Given the description of an element on the screen output the (x, y) to click on. 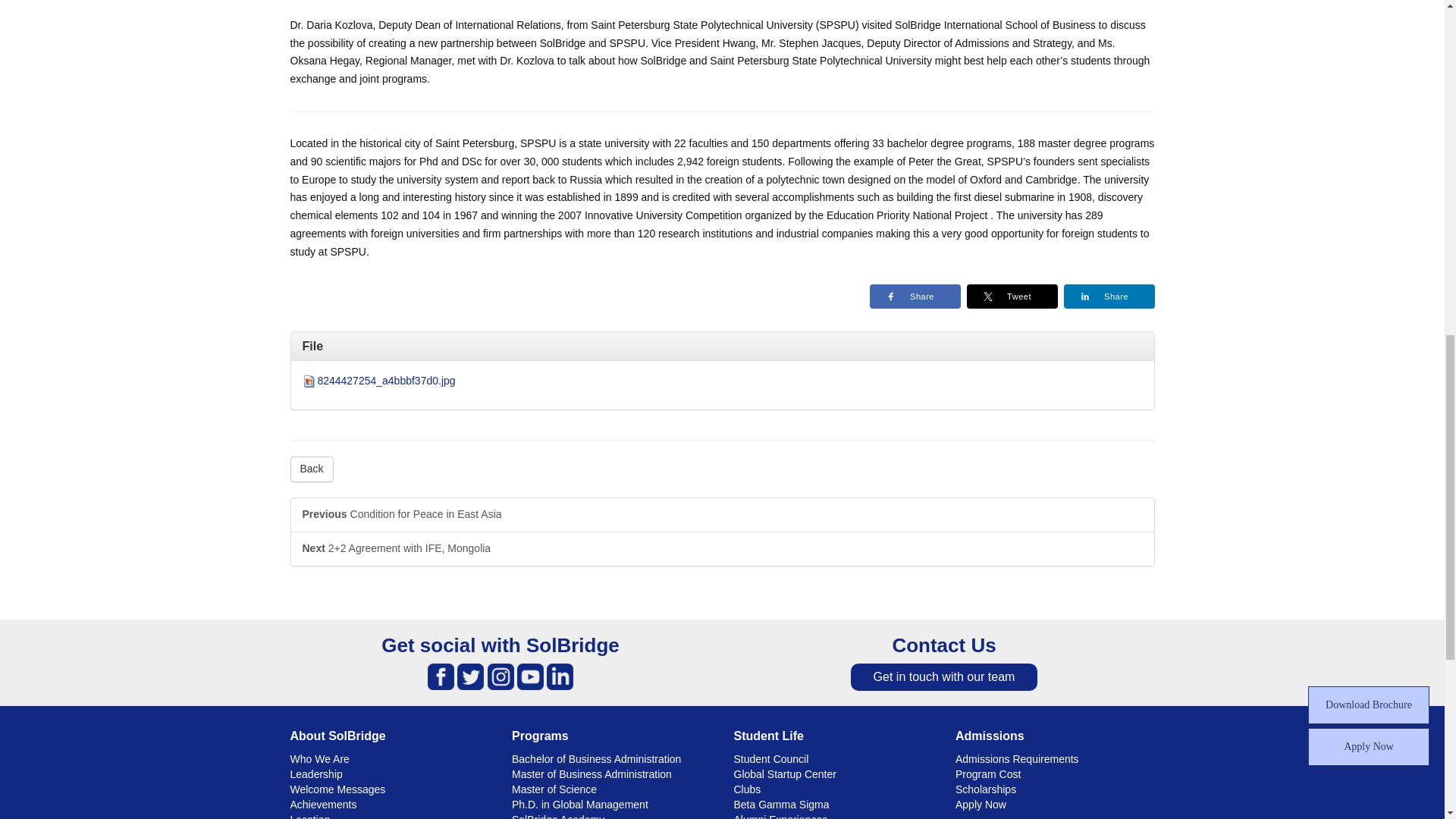
Return to the page. (311, 469)
Connect with us on Facebook (441, 675)
Connect with us on LinkedIn (560, 675)
Connect with us on instagram (499, 675)
Connect with us on Twitter (470, 675)
Connect with us on Youtube (529, 675)
